Given the description of an element on the screen output the (x, y) to click on. 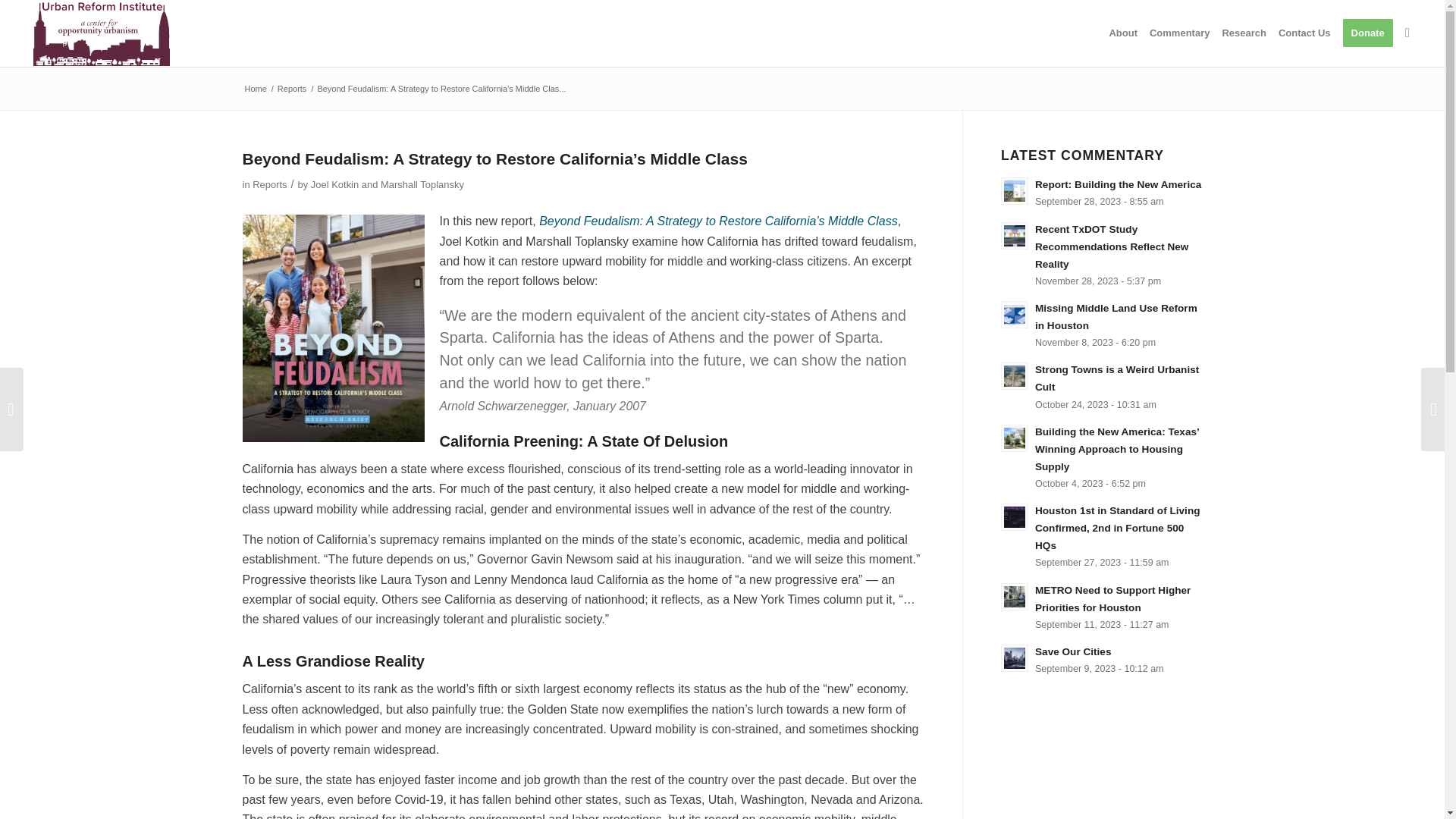
Joel Kotkin and Marshall Toplansky (387, 184)
Commentary (1178, 33)
Donate (1367, 33)
Home (256, 89)
Contact Us (1304, 33)
Urban Reform Institute (256, 89)
Posts by Joel Kotkin and Marshall Toplansky (387, 184)
Reports (268, 184)
Reports (291, 89)
